Given the description of an element on the screen output the (x, y) to click on. 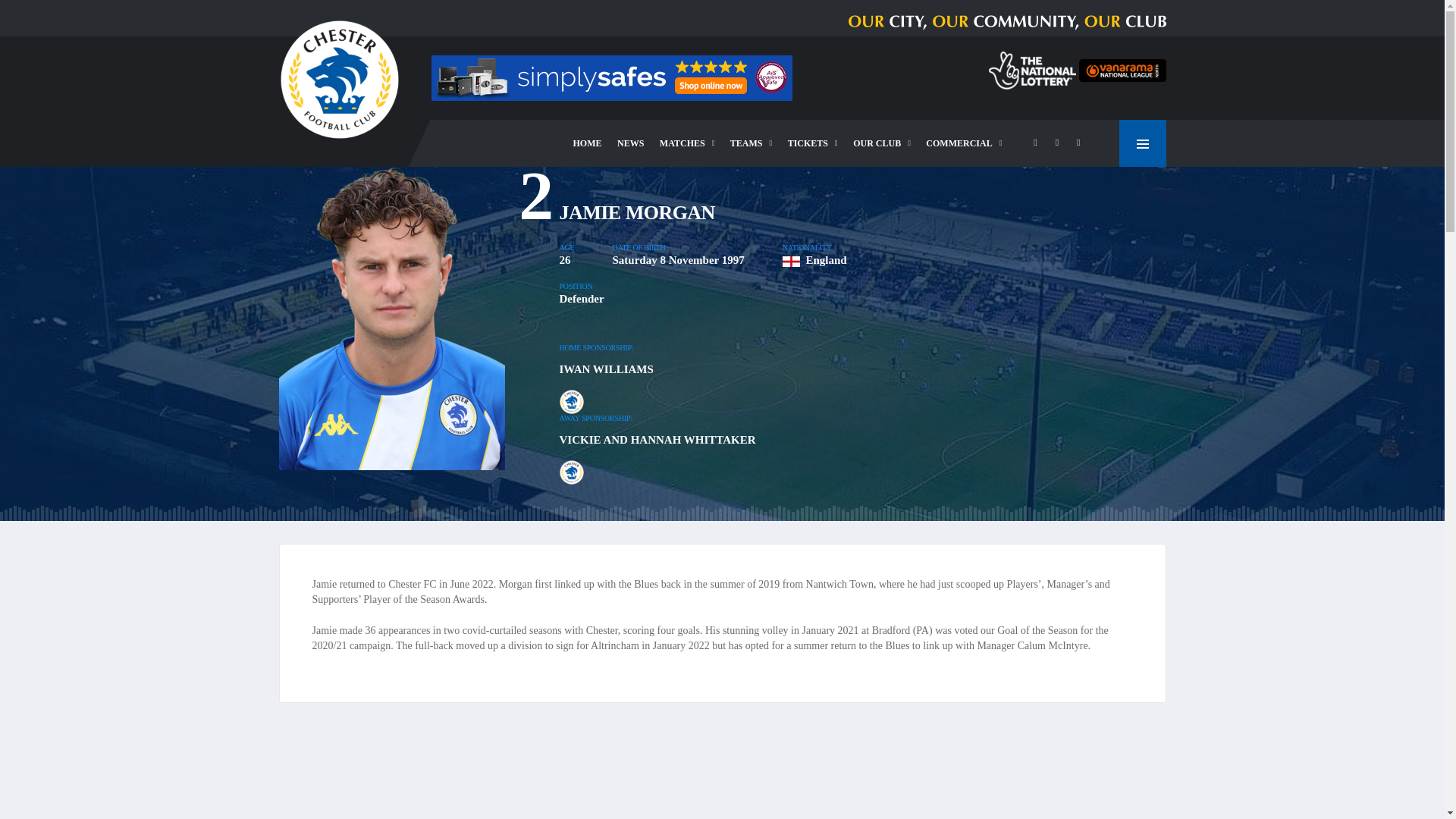
COMMERCIAL (963, 143)
HOME (587, 143)
TICKETS (812, 143)
NEWS (630, 143)
TEAMS (750, 143)
MATCHES (686, 143)
OUR CLUB (882, 143)
